Given the description of an element on the screen output the (x, y) to click on. 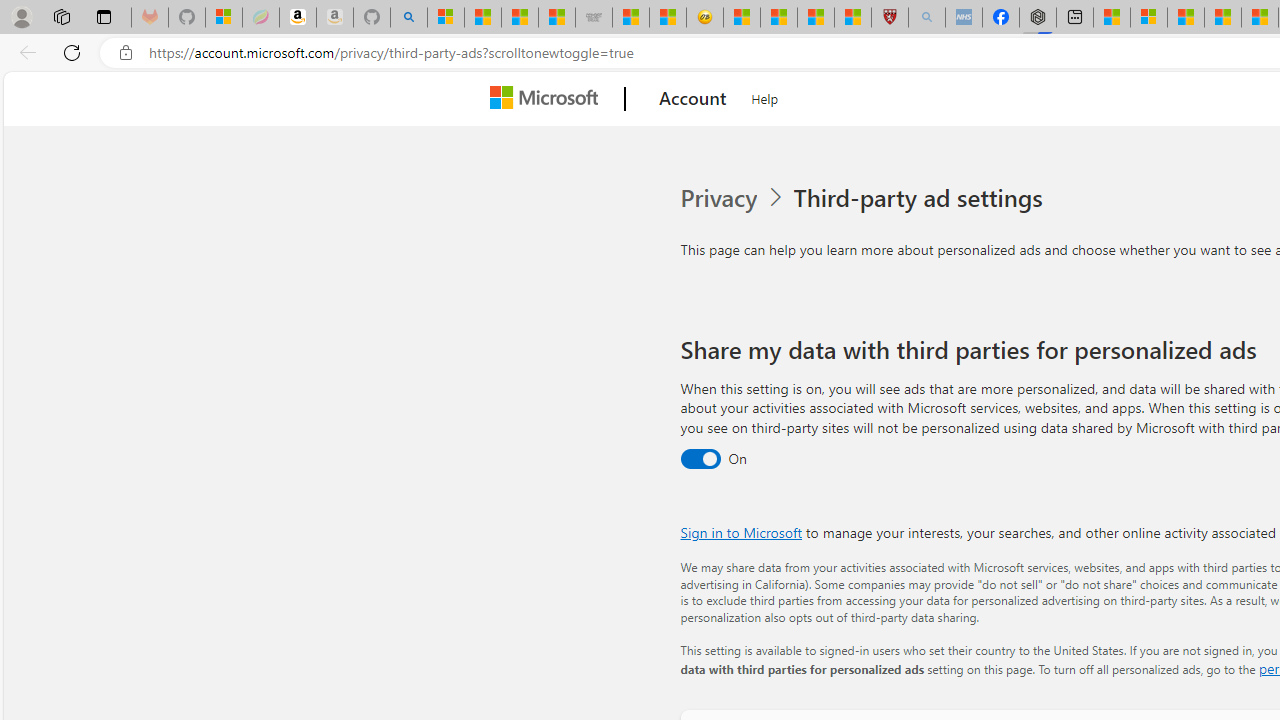
Third party data sharing toggle (699, 459)
Account (692, 99)
Third-party ad settings (922, 197)
Sign in to Microsoft (740, 532)
